Given the description of an element on the screen output the (x, y) to click on. 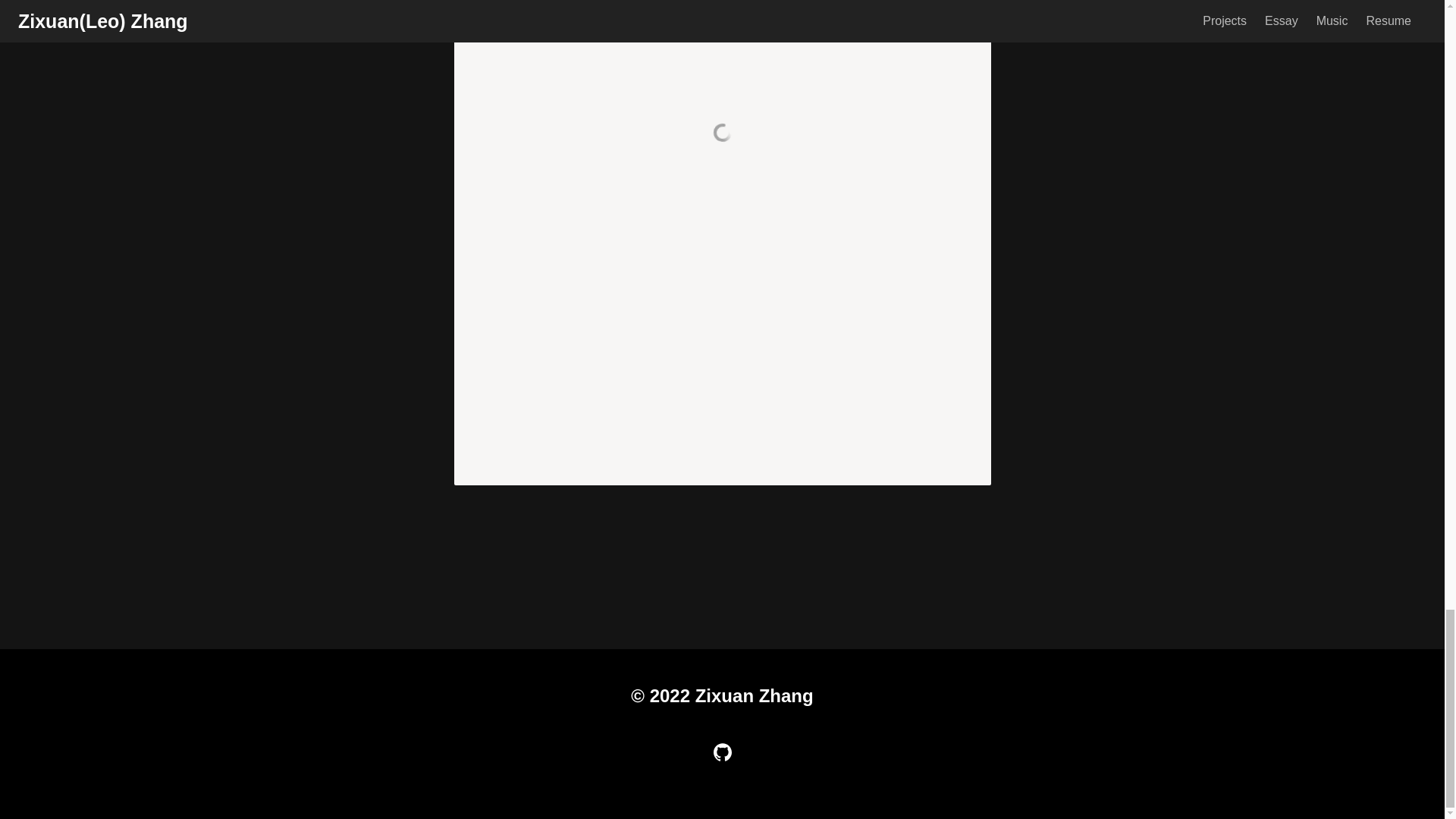
GitHub (721, 751)
GitHub (721, 751)
